Given the description of an element on the screen output the (x, y) to click on. 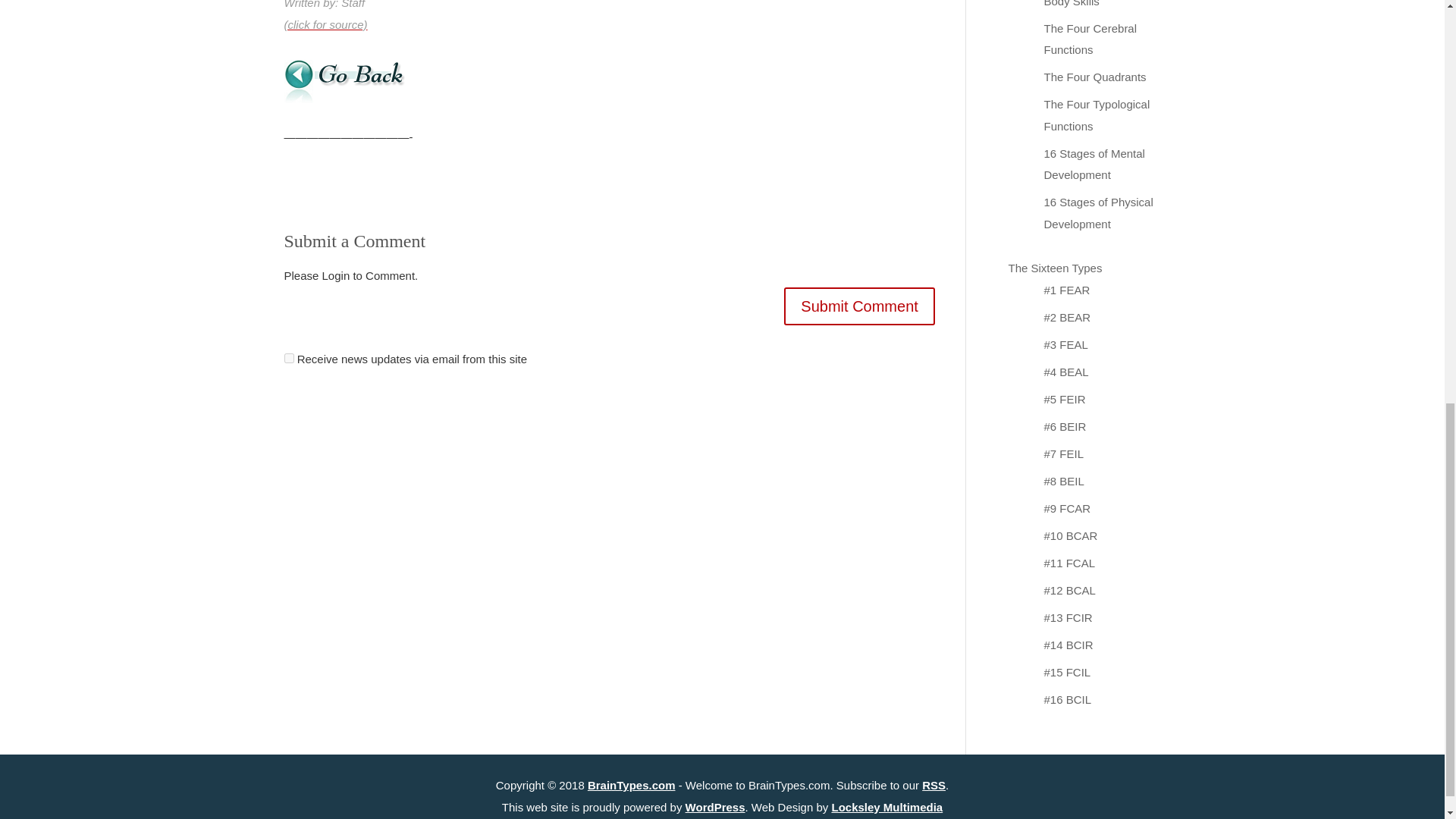
1 (288, 357)
The Four Typological Functions (1096, 114)
Body Skills (1071, 3)
BrainTypes.com (631, 784)
The Four Quadrants (1094, 76)
The Sixteen Types (1055, 267)
16 Stages of Physical Development (1098, 212)
Submit Comment (859, 306)
The Four Cerebral Functions (1090, 39)
Submit Comment (859, 306)
16 Stages of Mental Development (1093, 164)
